Given the description of an element on the screen output the (x, y) to click on. 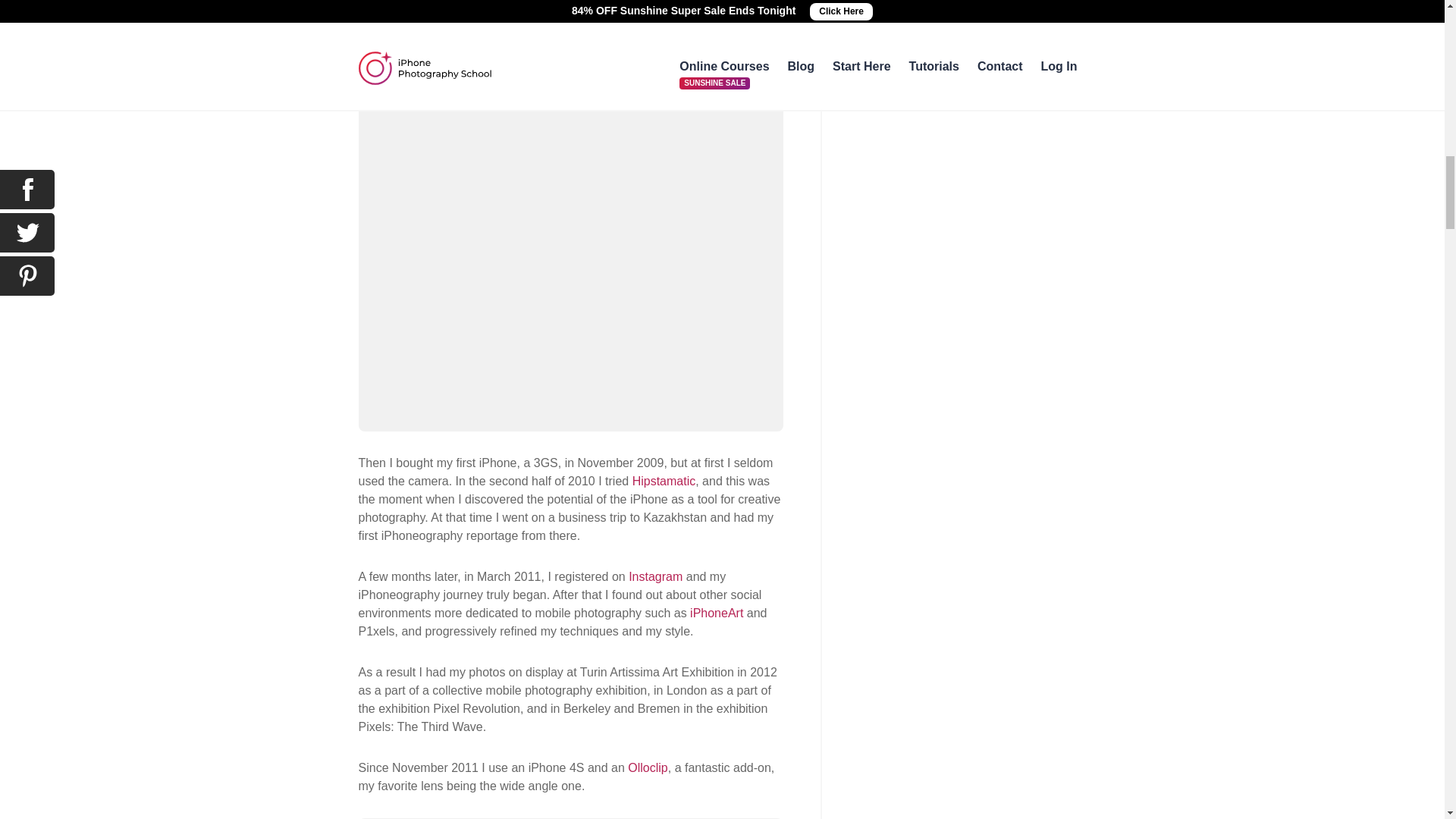
Hipstamatic (663, 481)
Instagram (655, 576)
Olloclip (646, 767)
iPhoneArt (716, 612)
